Given the description of an element on the screen output the (x, y) to click on. 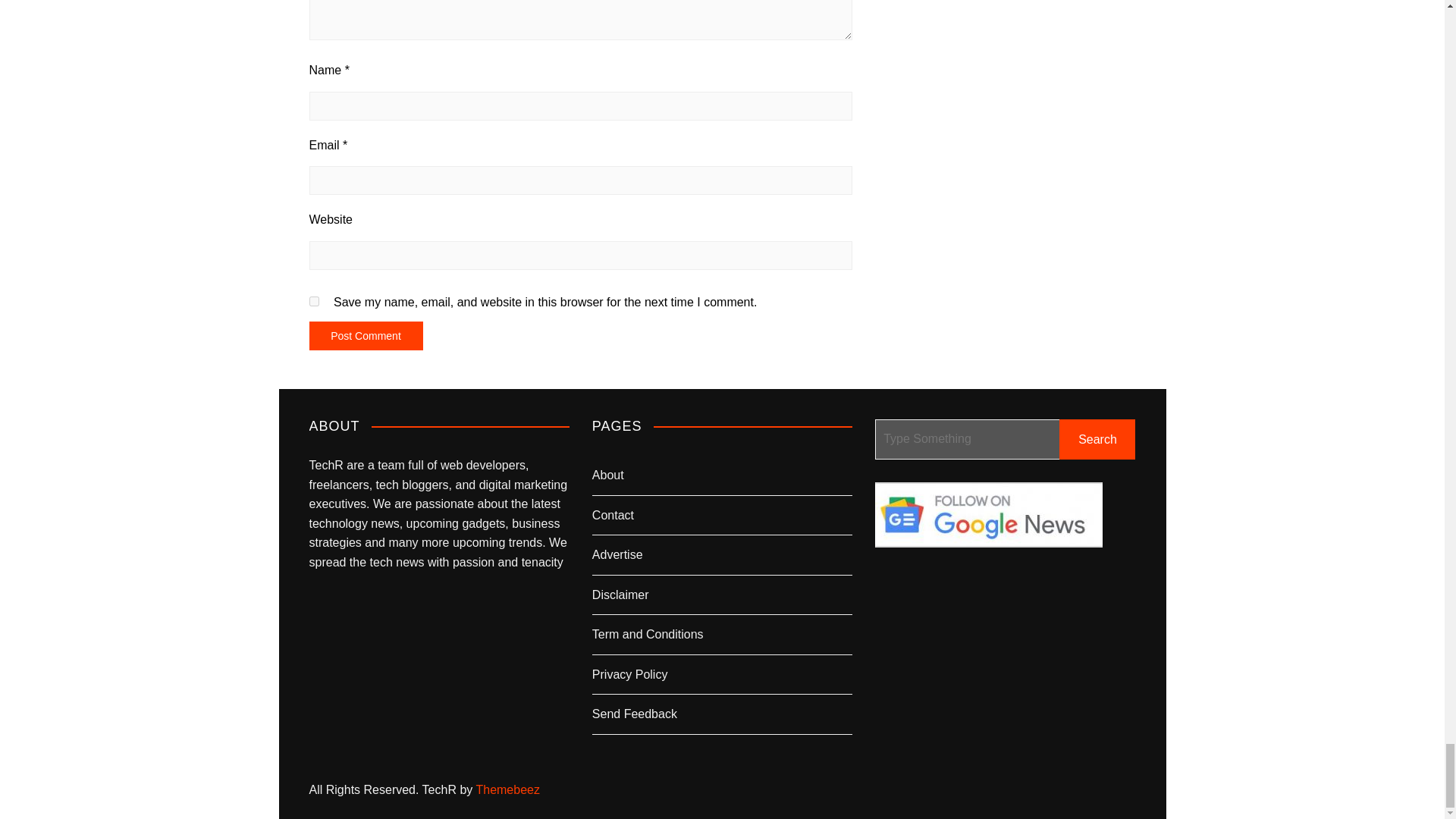
yes (313, 301)
Post Comment (365, 335)
Search (1097, 439)
